Given the description of an element on the screen output the (x, y) to click on. 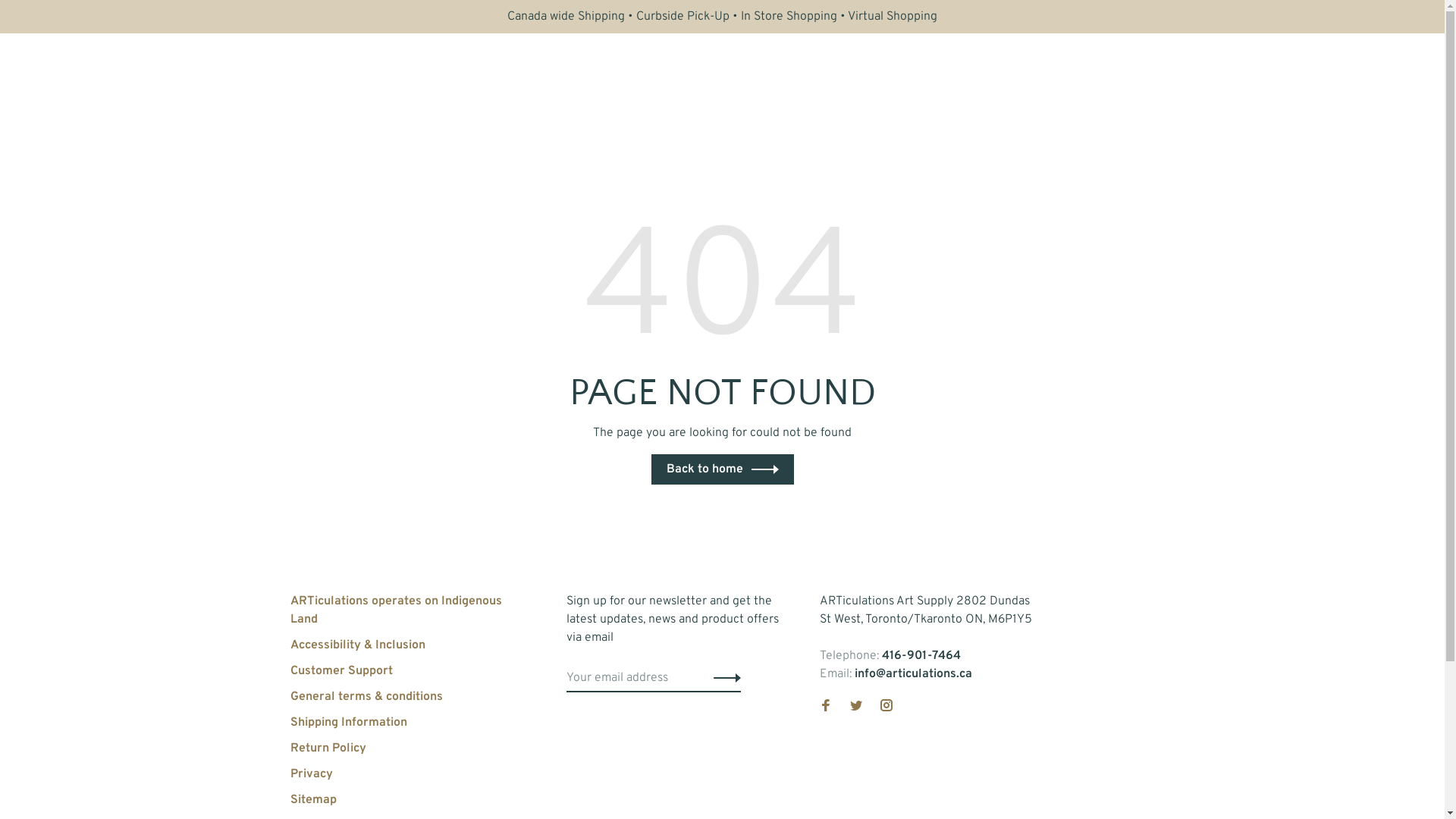
Customer Support Element type: text (340, 670)
Privacy Element type: text (310, 773)
Subscribe Element type: text (38, 15)
Accessibility & Inclusion Element type: text (356, 644)
Instagram ARTiculations Element type: hover (885, 707)
Twitter Element type: hover (855, 707)
Facebook Element type: hover (825, 707)
Shipping Information Element type: text (347, 722)
Back to home Element type: text (721, 469)
Telephone: 416-901-7464 Element type: text (889, 655)
ARTiculations operates on Indigenous Land Element type: text (395, 610)
Return Policy Element type: text (327, 748)
Email: info@articulations.ca Element type: text (895, 673)
Sitemap Element type: text (312, 799)
Subscribe Element type: hover (722, 677)
General terms & conditions Element type: text (365, 696)
